Given the description of an element on the screen output the (x, y) to click on. 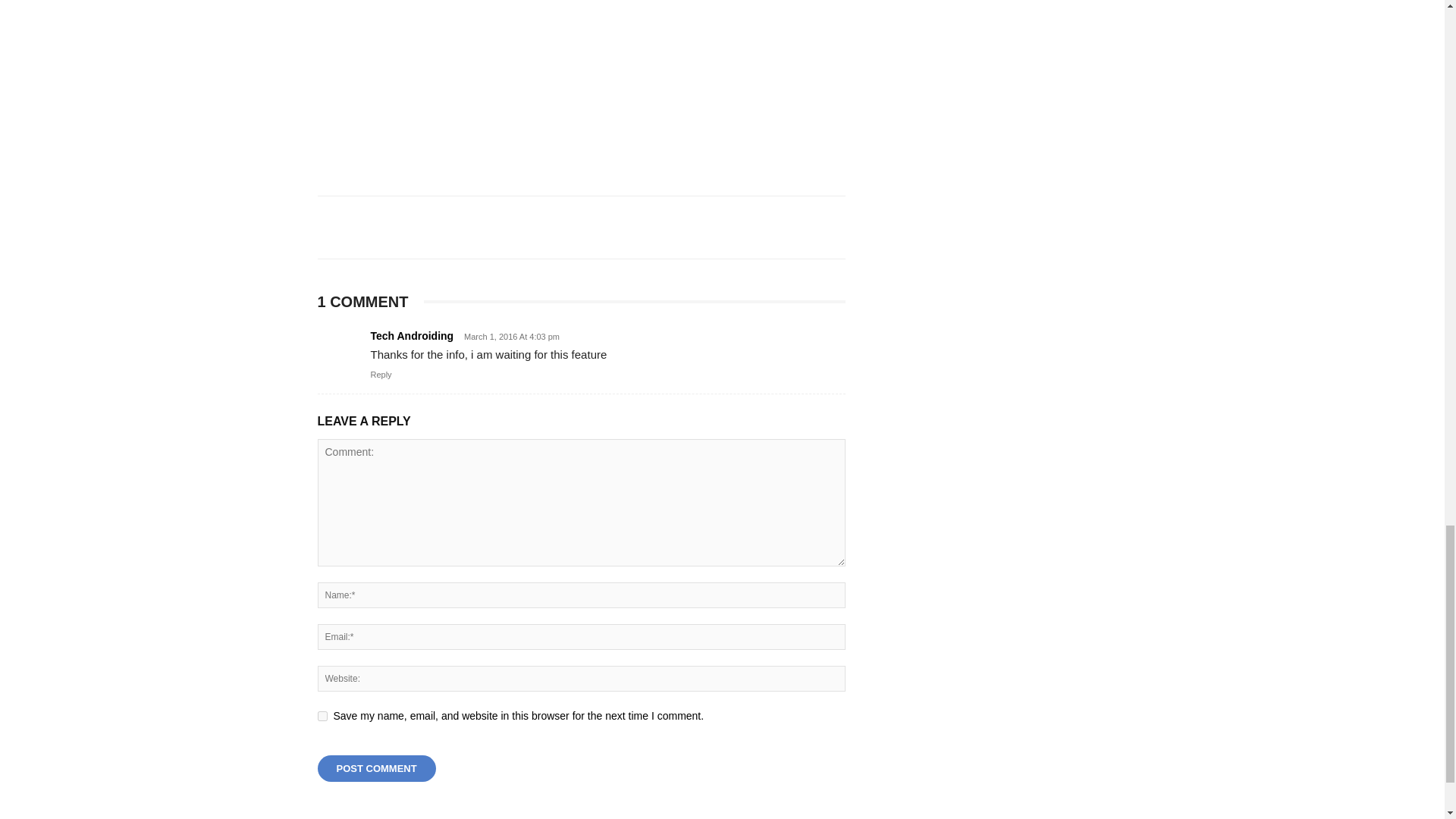
Post Comment (376, 768)
yes (321, 716)
March 1, 2016 At 4:03 pm (508, 336)
Reply (380, 374)
